Given the description of an element on the screen output the (x, y) to click on. 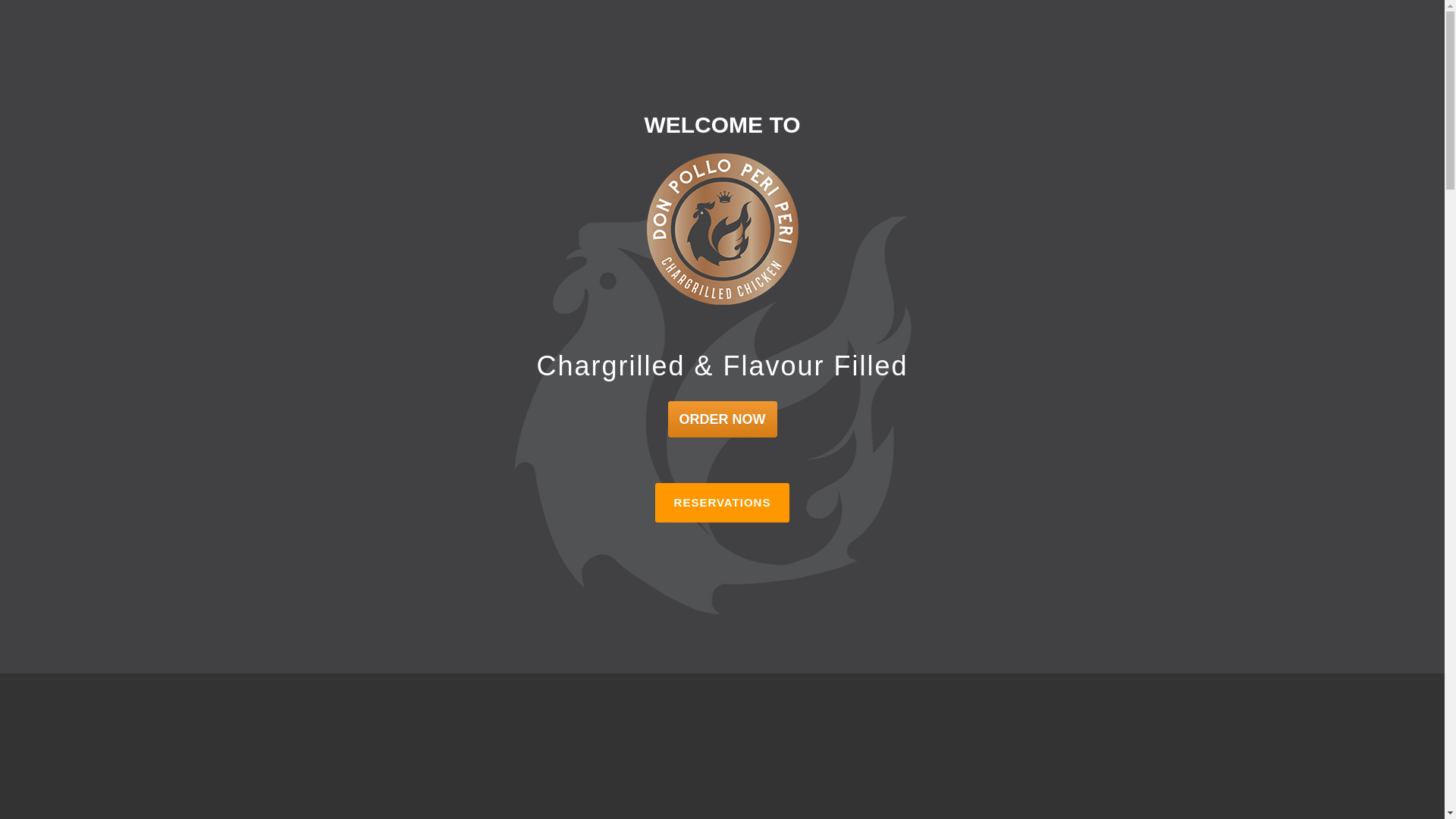
RESERVATIONS (722, 502)
